Given the description of an element on the screen output the (x, y) to click on. 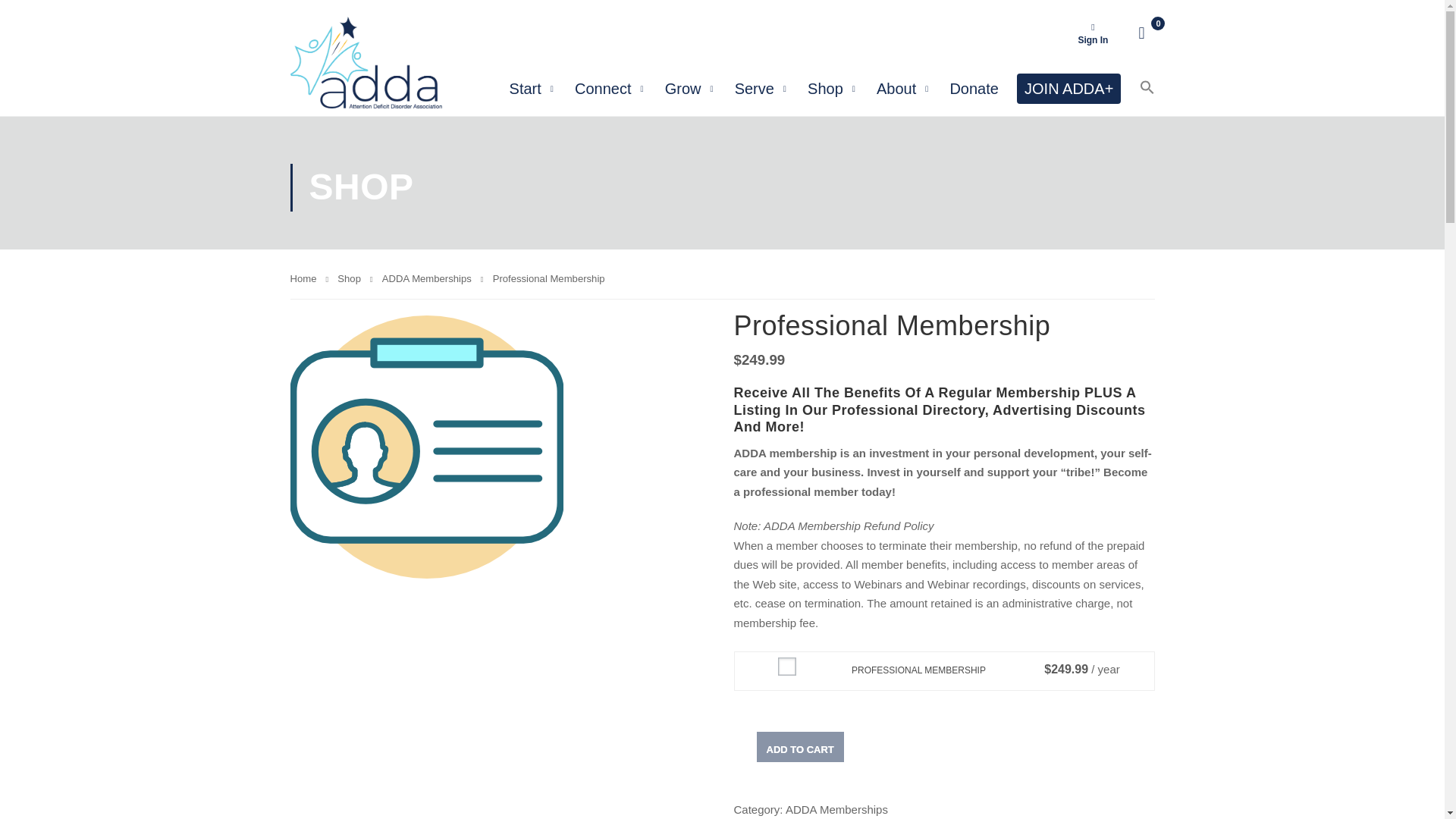
membership-card (425, 445)
Sign In (1092, 33)
0 (1146, 33)
membership-card (425, 446)
1 (783, 663)
Start (525, 88)
